Given the description of an element on the screen output the (x, y) to click on. 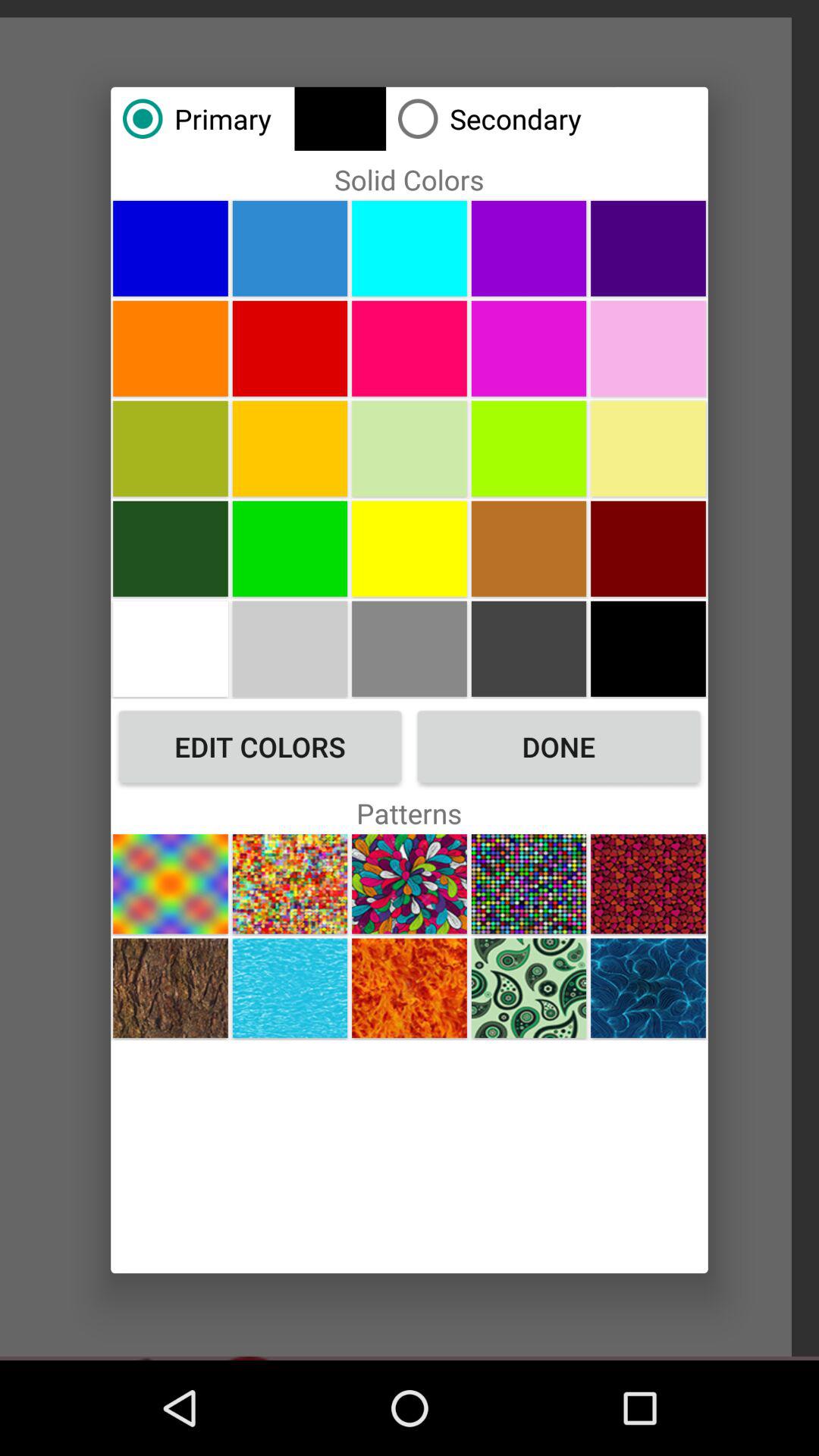
pick color dark gray (528, 648)
